Given the description of an element on the screen output the (x, y) to click on. 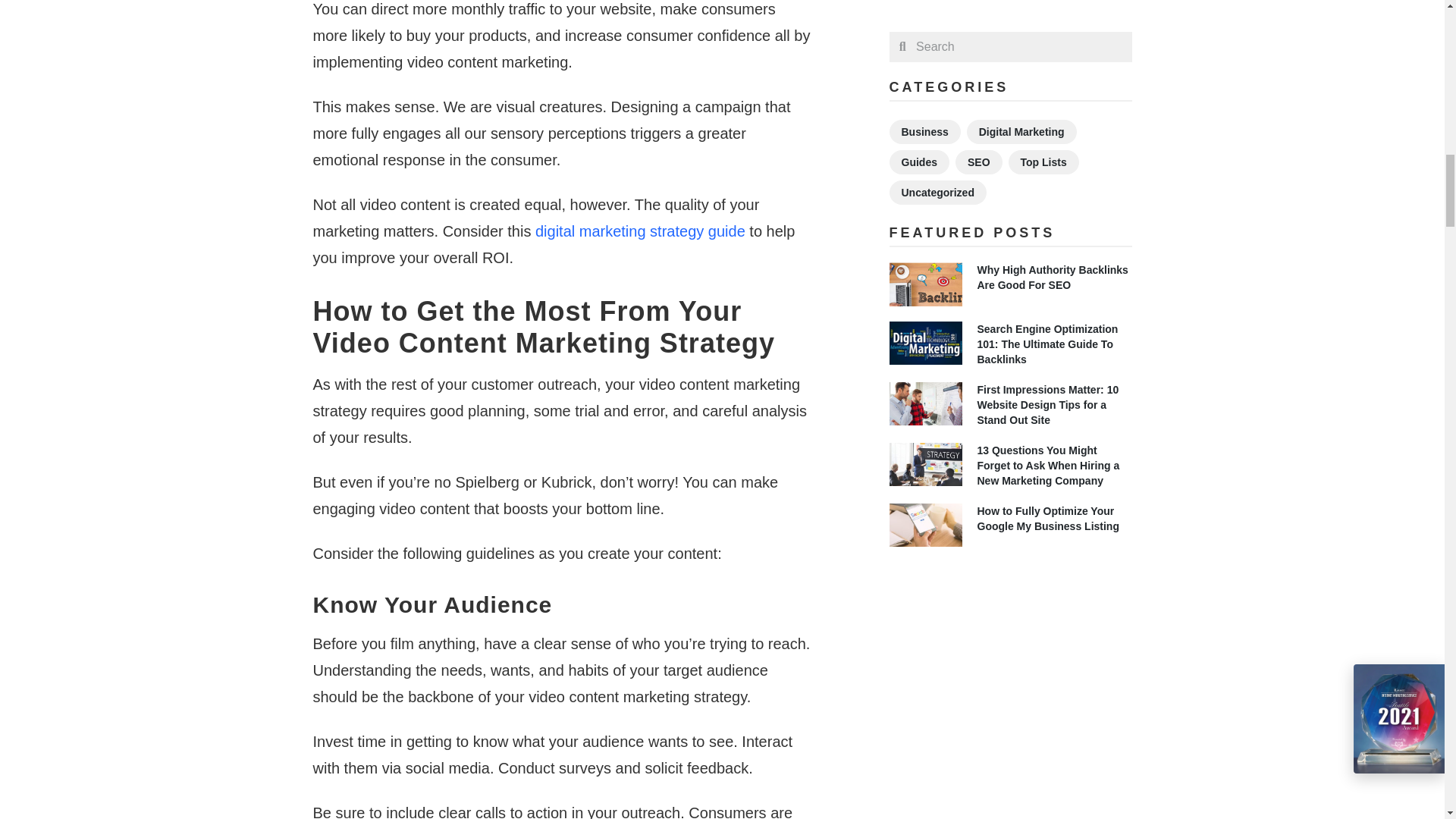
digital marketing strategy guide (640, 230)
